Given the description of an element on the screen output the (x, y) to click on. 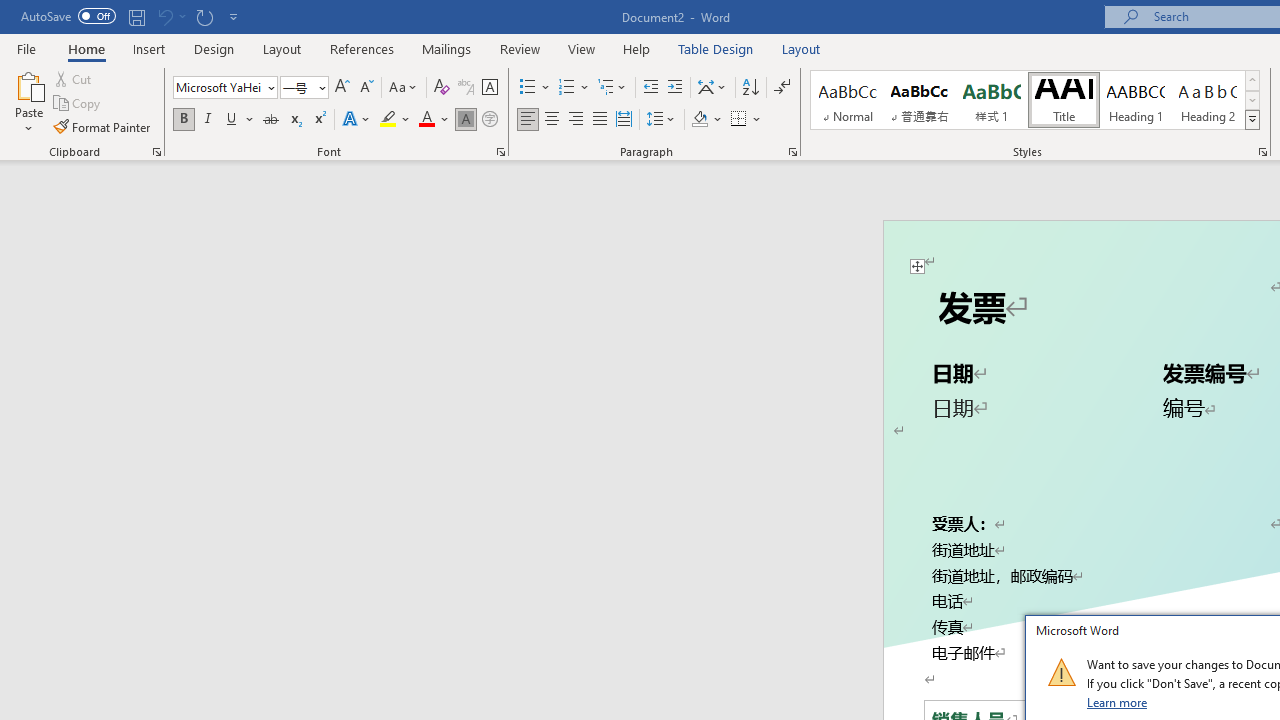
Bullets (535, 87)
Paste (28, 84)
Underline (232, 119)
System (10, 11)
Subscript (294, 119)
File Tab (26, 48)
Copy (78, 103)
Font Color (434, 119)
Change Case (404, 87)
Table Design (715, 48)
Home (86, 48)
Customize Quick Access Toolbar (234, 15)
Learn more (1118, 702)
Styles (1252, 120)
